Given the description of an element on the screen output the (x, y) to click on. 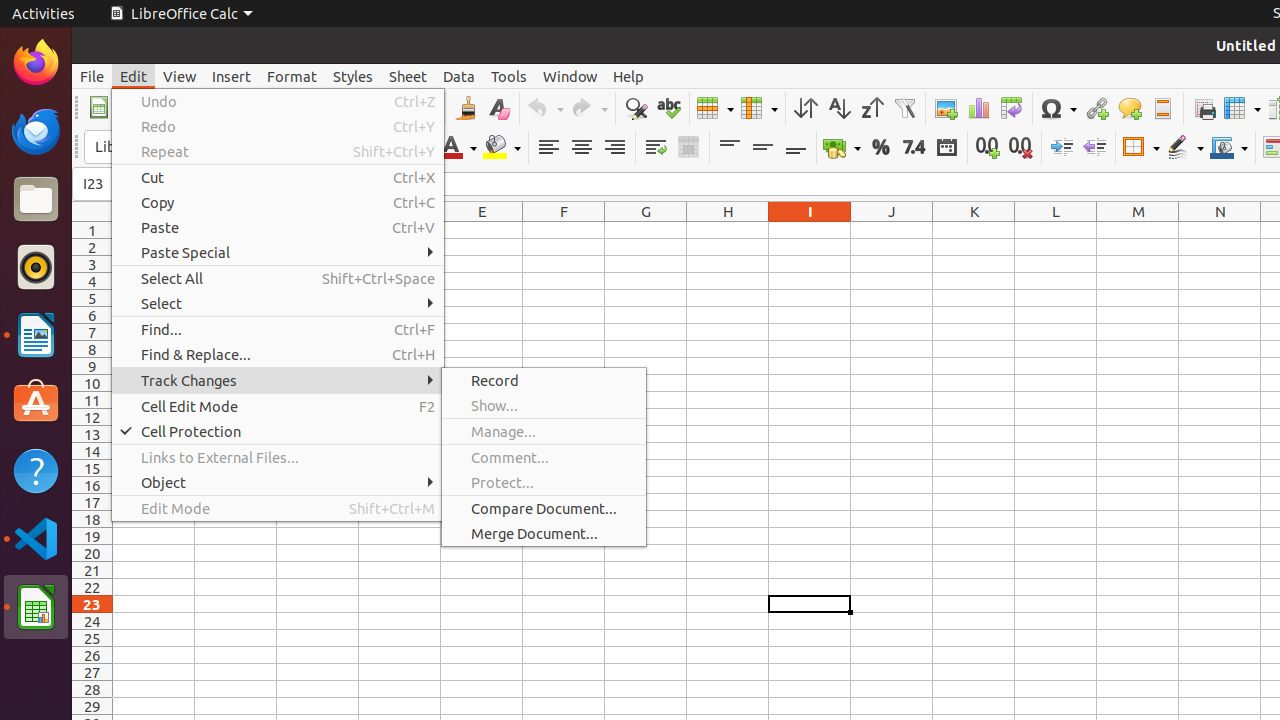
File Element type: menu (92, 76)
Headers and Footers Element type: push-button (1162, 108)
Align Center Element type: push-button (581, 147)
